Given the description of an element on the screen output the (x, y) to click on. 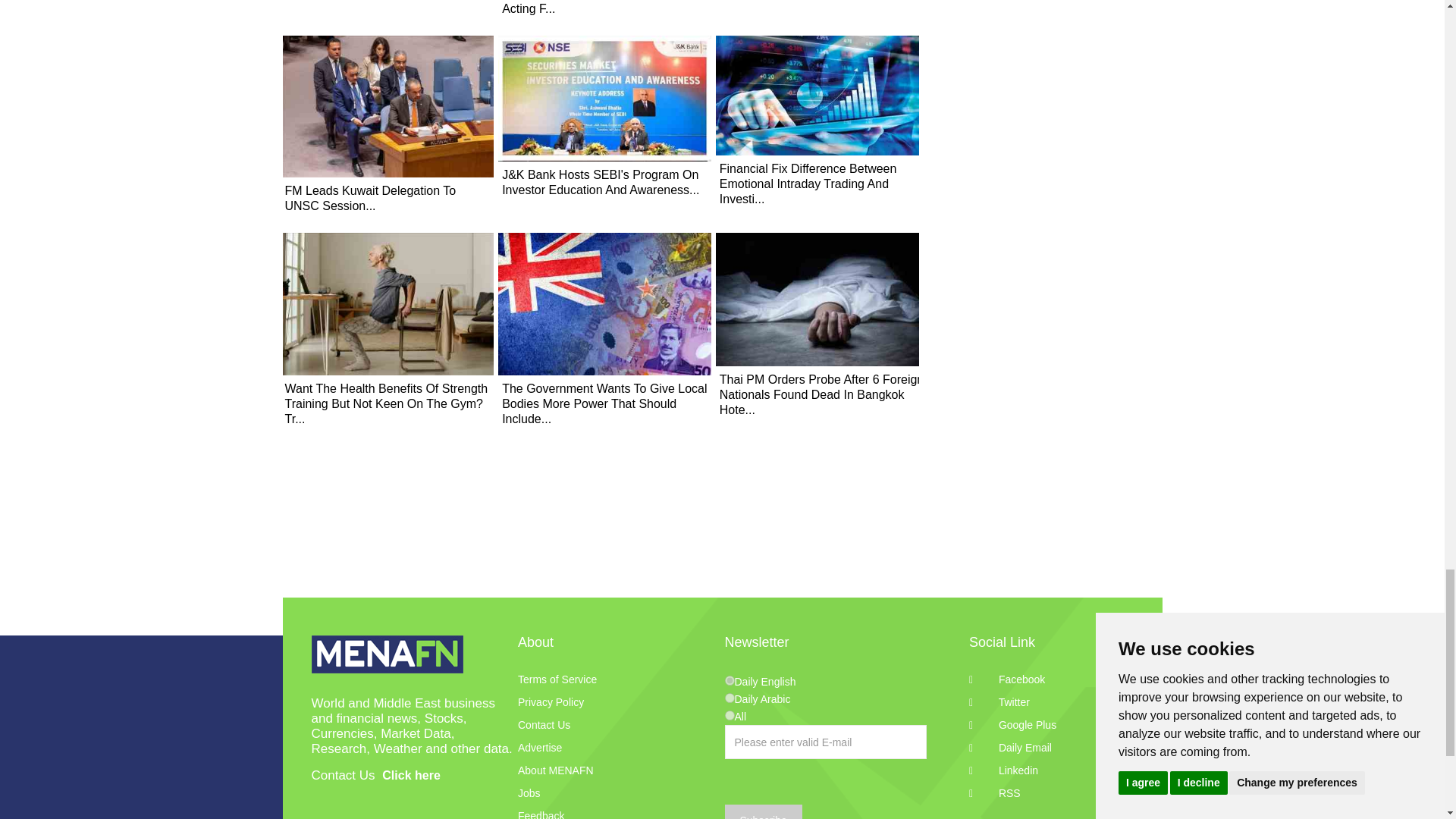
Advertisement (721, 559)
Advertisement (1047, 142)
Subscribe (763, 811)
